Given the description of an element on the screen output the (x, y) to click on. 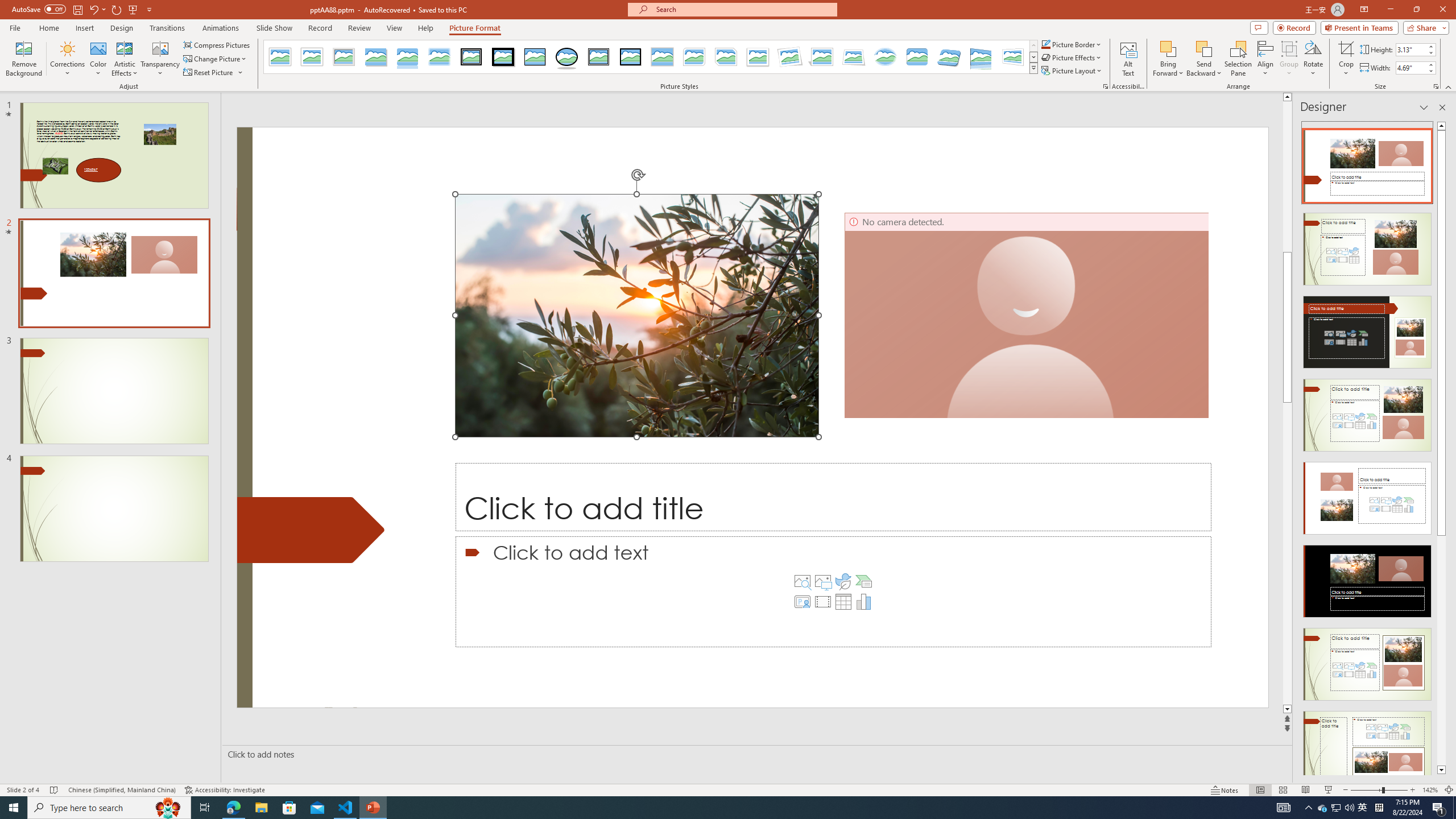
Bevel Rectangle (917, 56)
Insert Video (822, 601)
Transparency (160, 58)
AutomationID: PictureStylesGallery (650, 56)
Metal Frame (343, 56)
Crop (1345, 58)
